Given the description of an element on the screen output the (x, y) to click on. 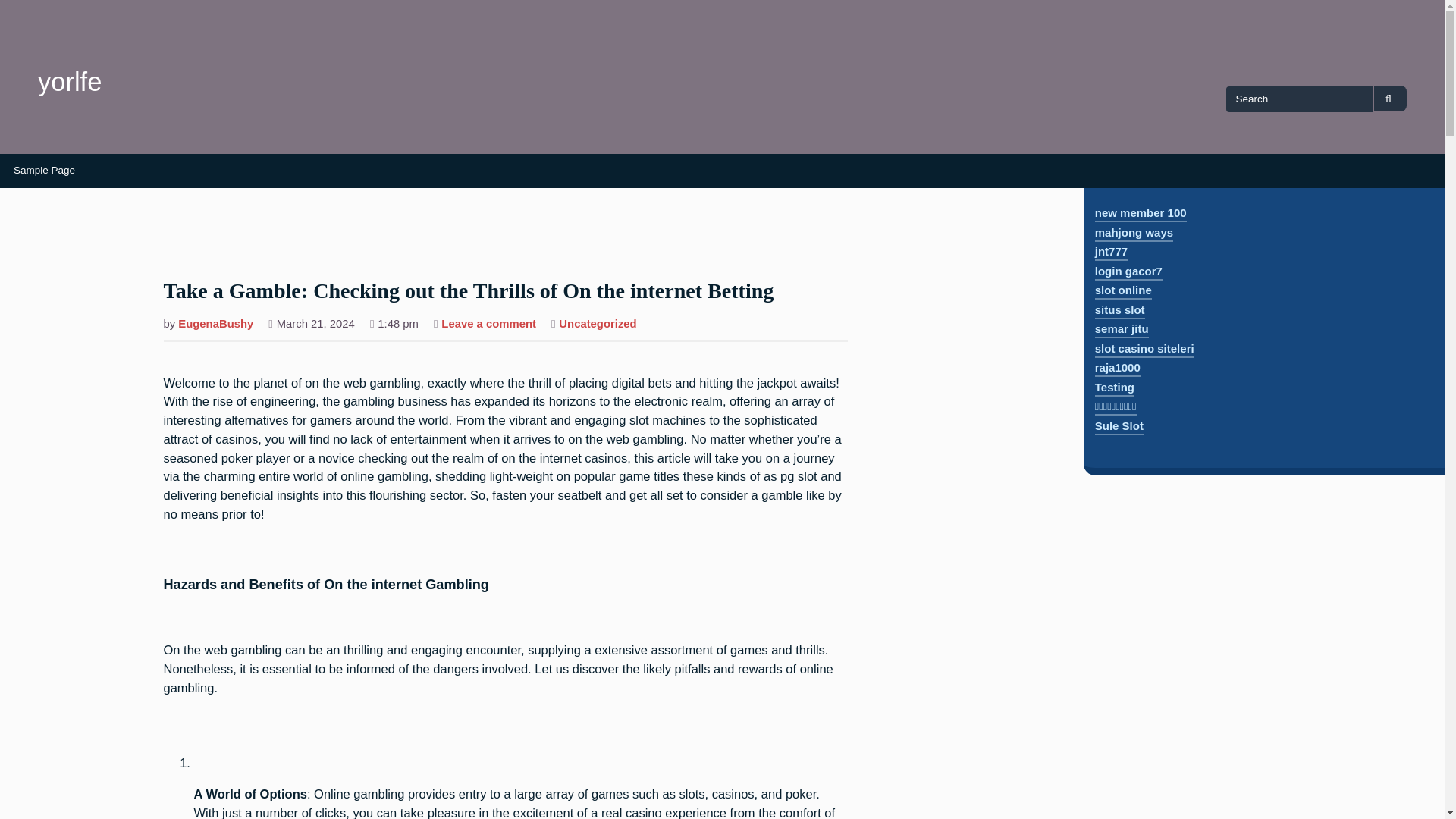
slot casino siteleri (1143, 349)
mahjong ways (1133, 233)
new member 100 (1140, 213)
slot online (1122, 291)
Search (1390, 98)
Sample Page (44, 170)
login gacor7 (1127, 272)
Posts by EugenaBushy (215, 324)
jnt777 (1110, 252)
yorlfe (69, 81)
semar jitu (1121, 330)
EugenaBushy (215, 324)
Testing (1114, 388)
